Given the description of an element on the screen output the (x, y) to click on. 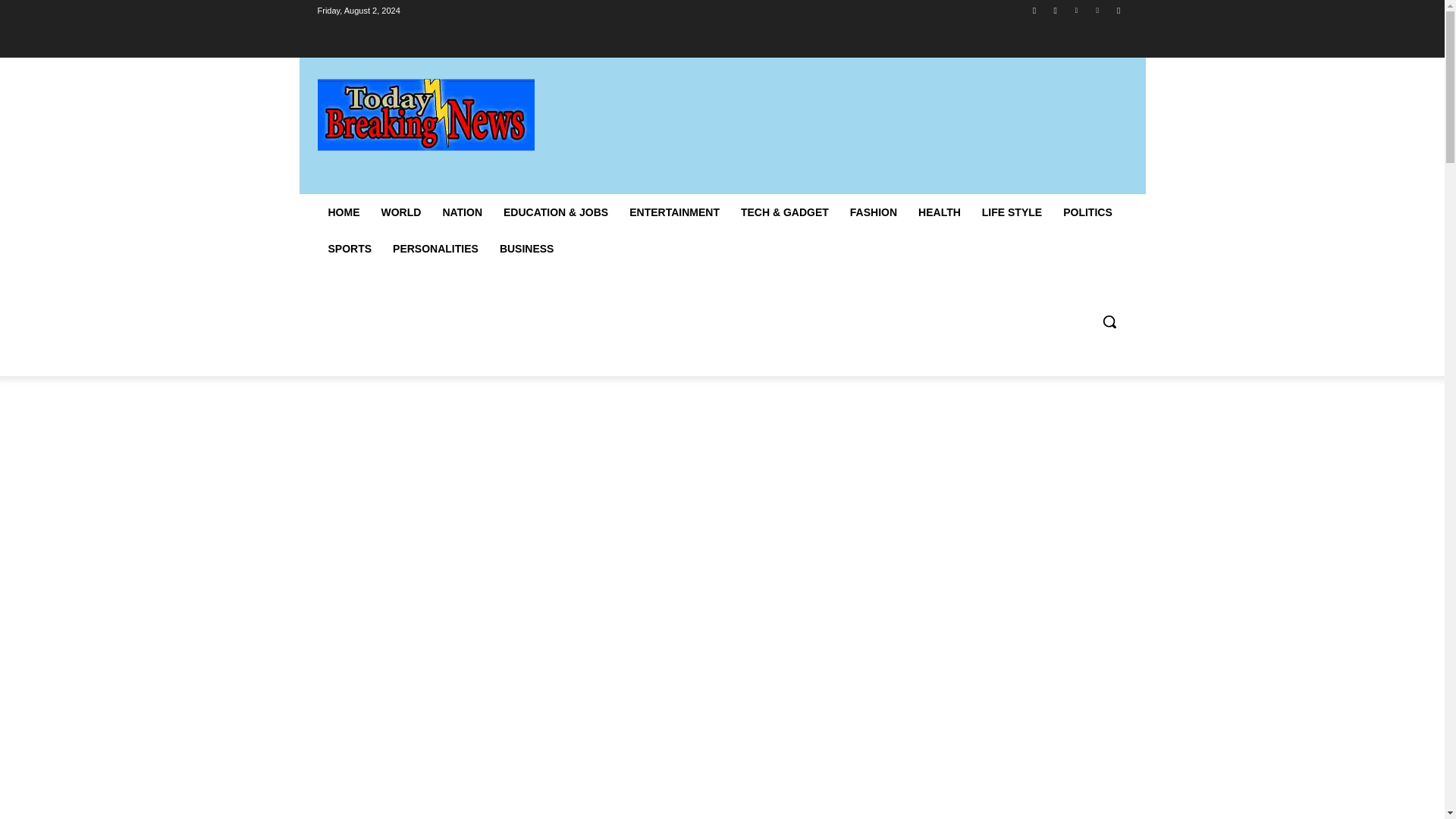
Vimeo (1097, 9)
Youtube (1117, 9)
HOME (343, 212)
Facebook (1034, 9)
Instagram (1055, 9)
Twitter (1075, 9)
